Given the description of an element on the screen output the (x, y) to click on. 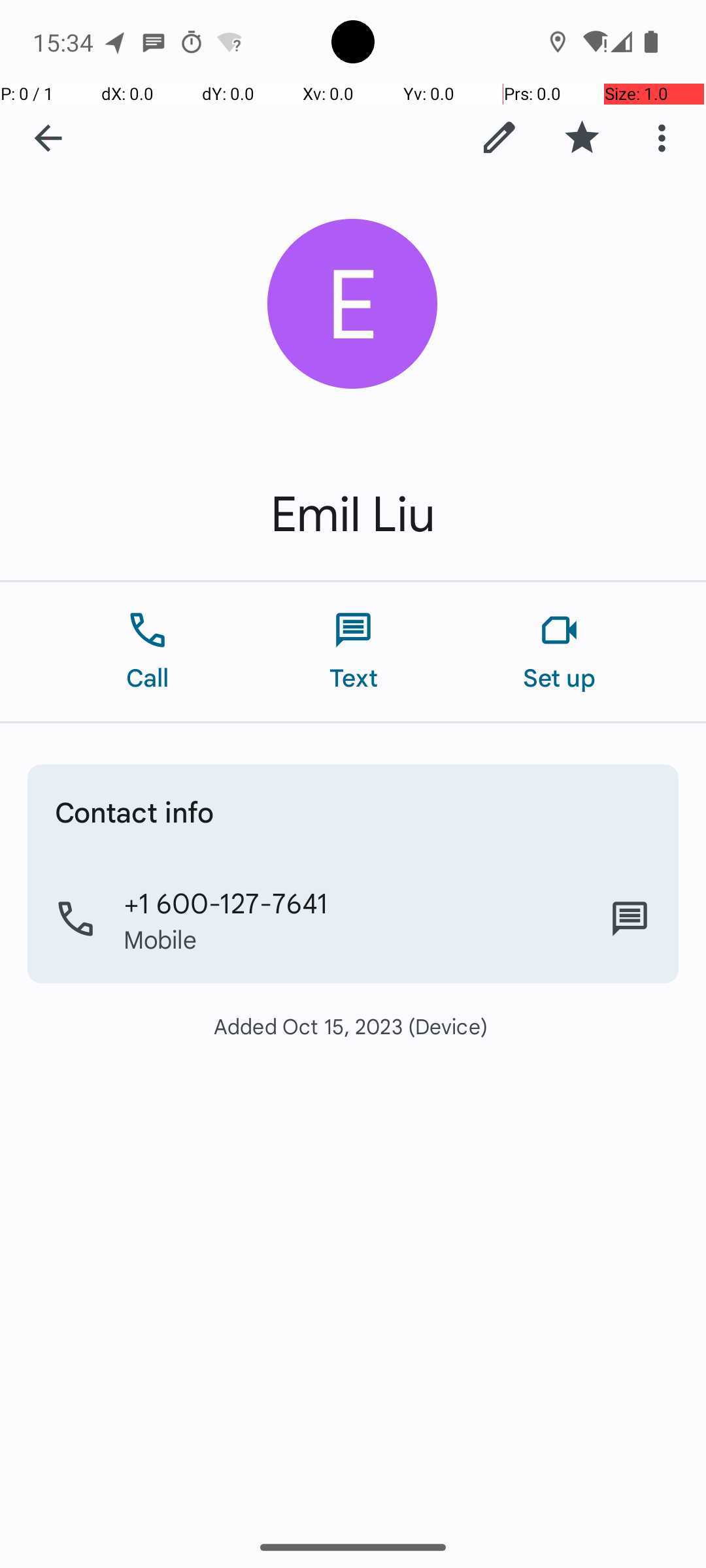
Call Mobile +1 600-127-7641 Element type: android.widget.RelativeLayout (352, 919)
Added Oct 15, 2023 (Device)  Element type: android.widget.TextView (352, 1025)
+1 600-127-7641 Element type: android.widget.TextView (225, 901)
Text Mobile +1 600-127-7641 Element type: android.widget.Button (629, 919)
